Given the description of an element on the screen output the (x, y) to click on. 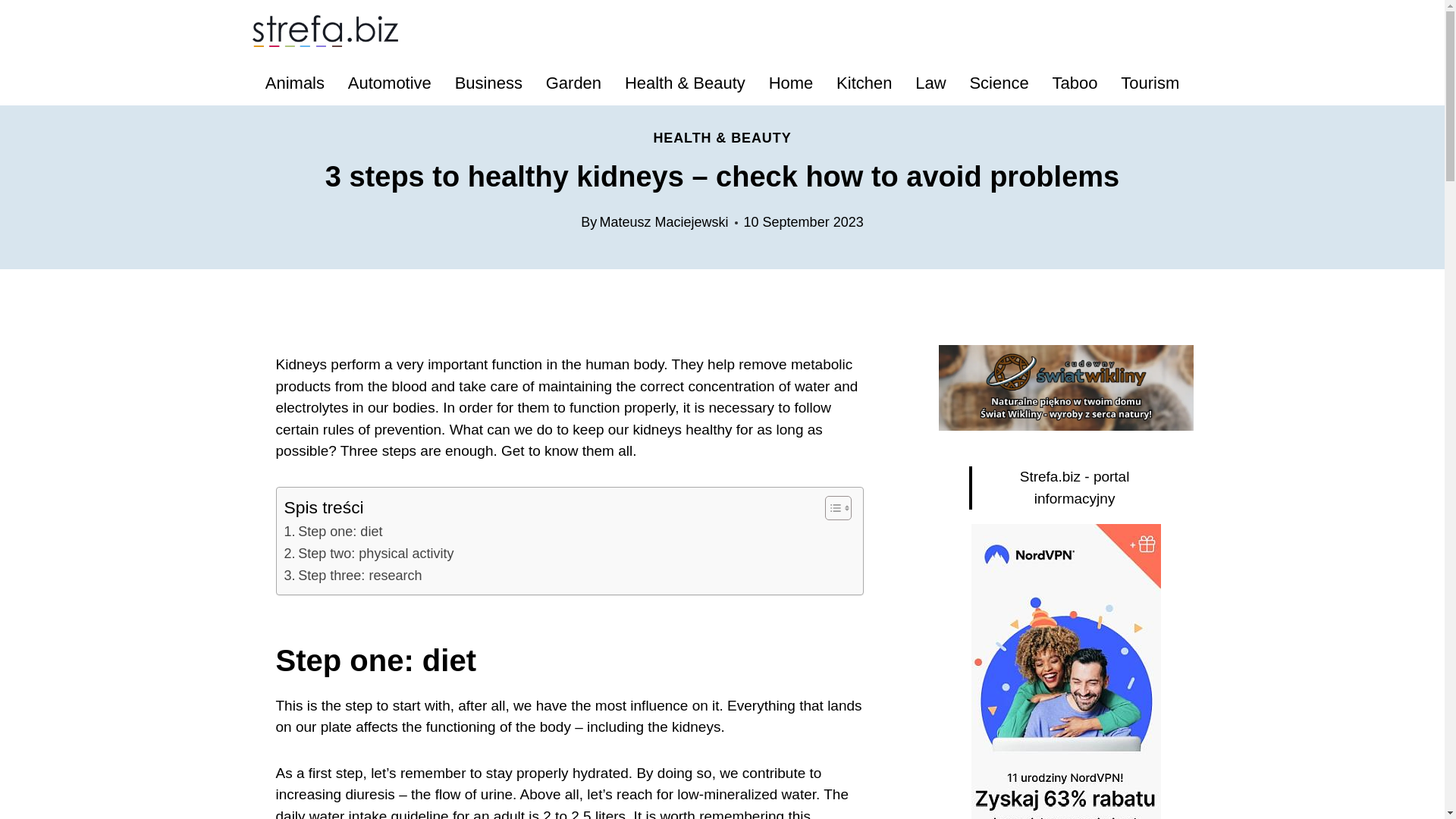
Garden (573, 82)
Taboo (1075, 82)
Step two: physical activity (367, 553)
Step three: research (352, 576)
Step one: diet (332, 531)
Mateusz Maciejewski (663, 222)
Step one: diet (332, 531)
Step three: research (352, 576)
Automotive (389, 82)
Science (999, 82)
Step two: physical activity (367, 553)
Law (931, 82)
Tourism (1150, 82)
Animals (294, 82)
Home (790, 82)
